Given the description of an element on the screen output the (x, y) to click on. 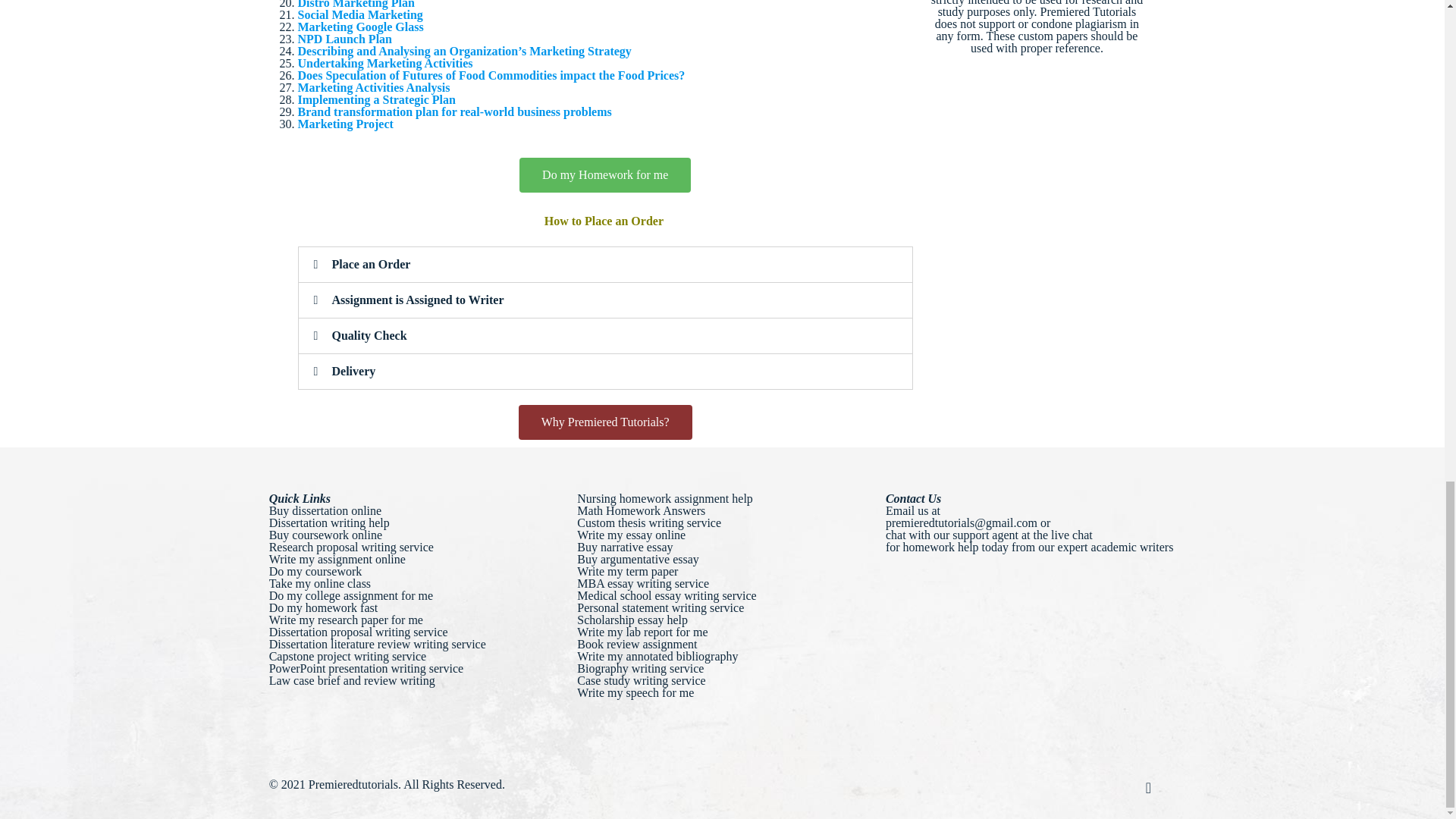
NPD Launch Plan (344, 38)
Distro Marketing Plan (355, 4)
Marketing Google Glass (360, 26)
Social Media Marketing (359, 14)
